Given the description of an element on the screen output the (x, y) to click on. 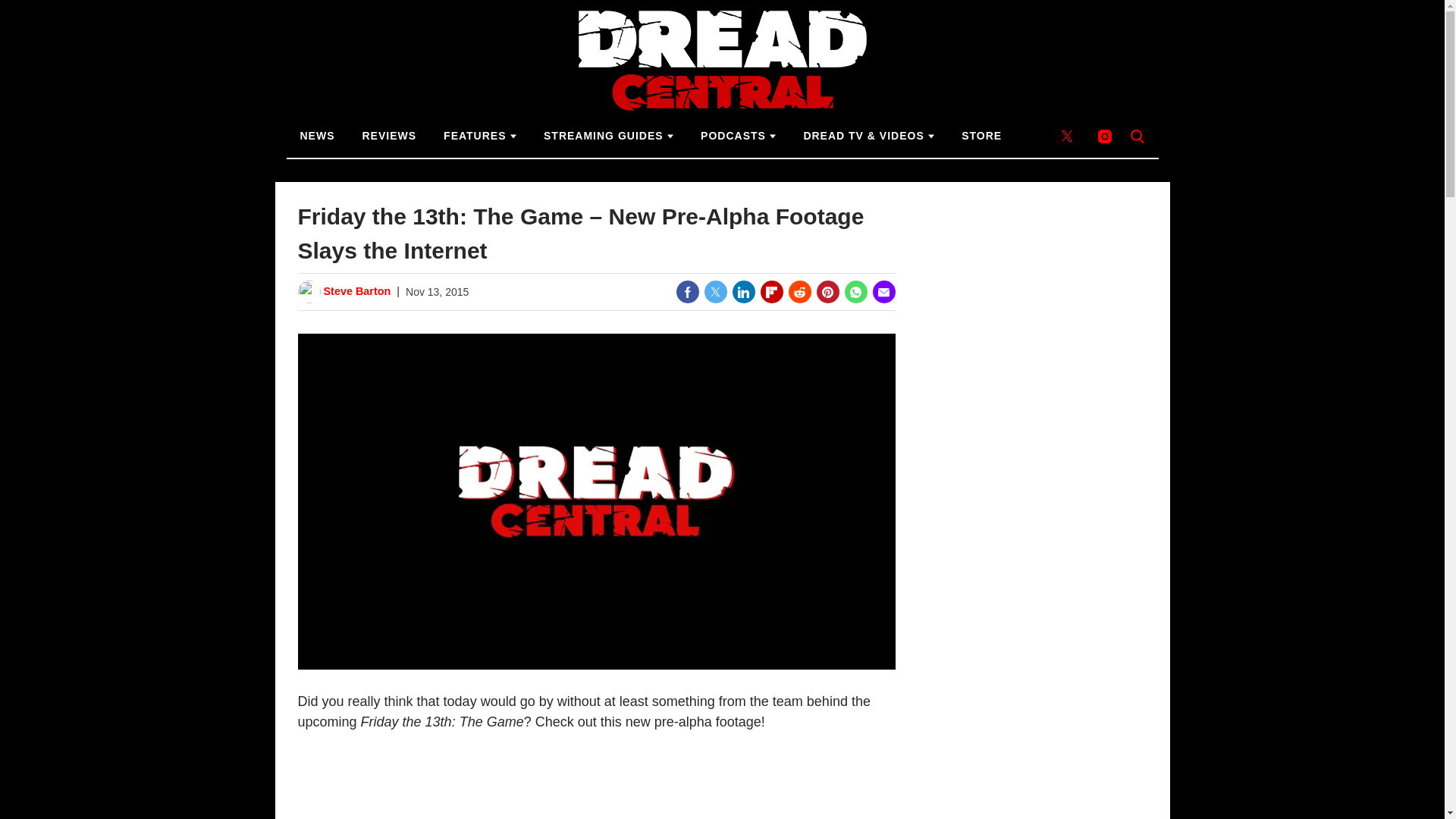
Share on Pinterest (826, 291)
Share on Flipboard (771, 291)
REVIEWS (389, 136)
Share on Reddit (799, 291)
Share on Twitter (714, 291)
FEATURES (479, 136)
STORE (980, 136)
PODCASTS (738, 136)
Steve Barton (356, 291)
STREAMING GUIDES (608, 136)
